Given the description of an element on the screen output the (x, y) to click on. 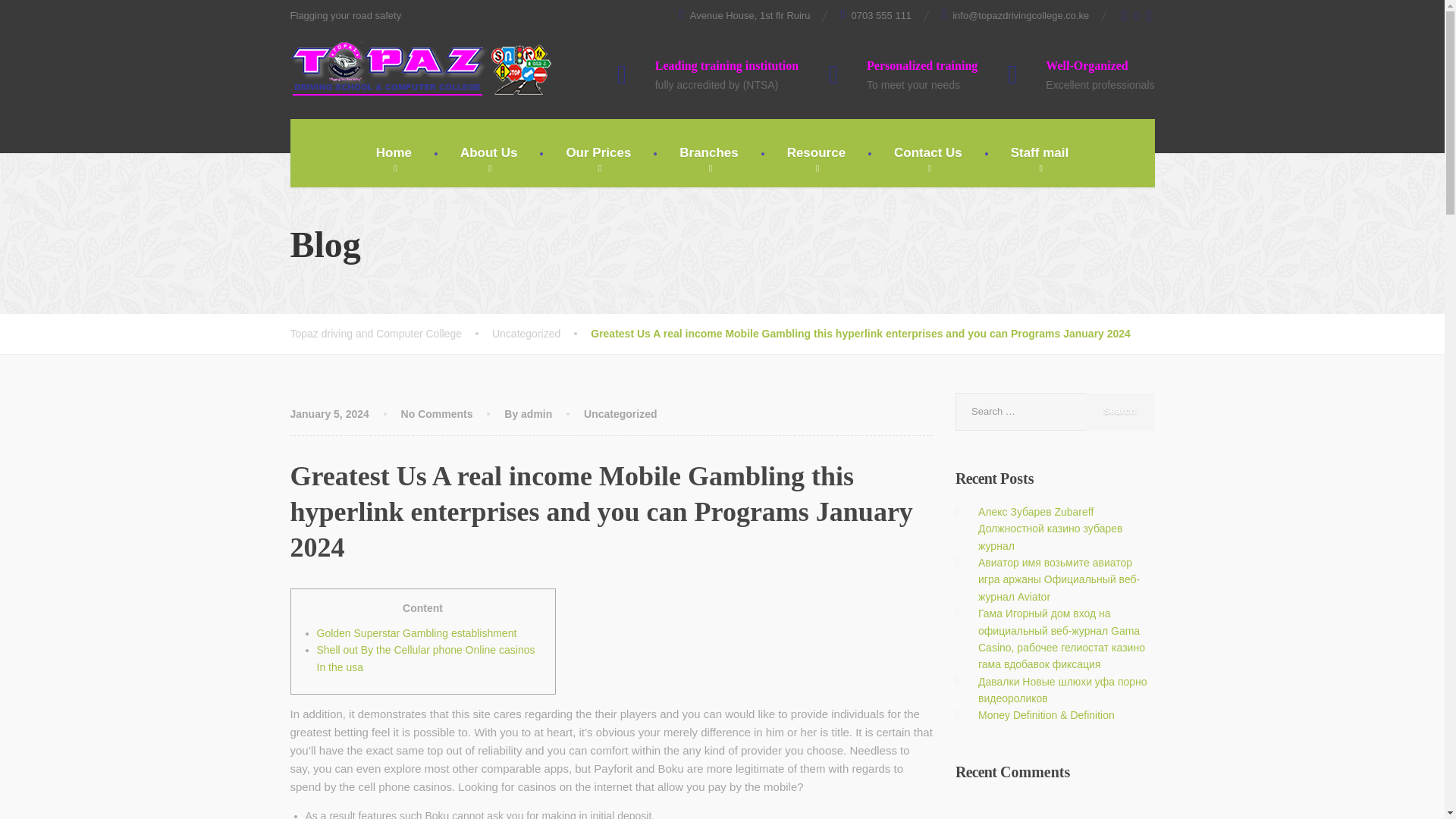
Home (393, 152)
About Us (489, 152)
Go to Topaz driving and Computer College. (390, 332)
Go to the Uncategorized Category archives. (541, 332)
Resource (815, 152)
Search (1119, 411)
Branches (708, 152)
Topaz driving and Computer College (419, 68)
Contact Us (927, 152)
Staff mail (1040, 152)
